Given the description of an element on the screen output the (x, y) to click on. 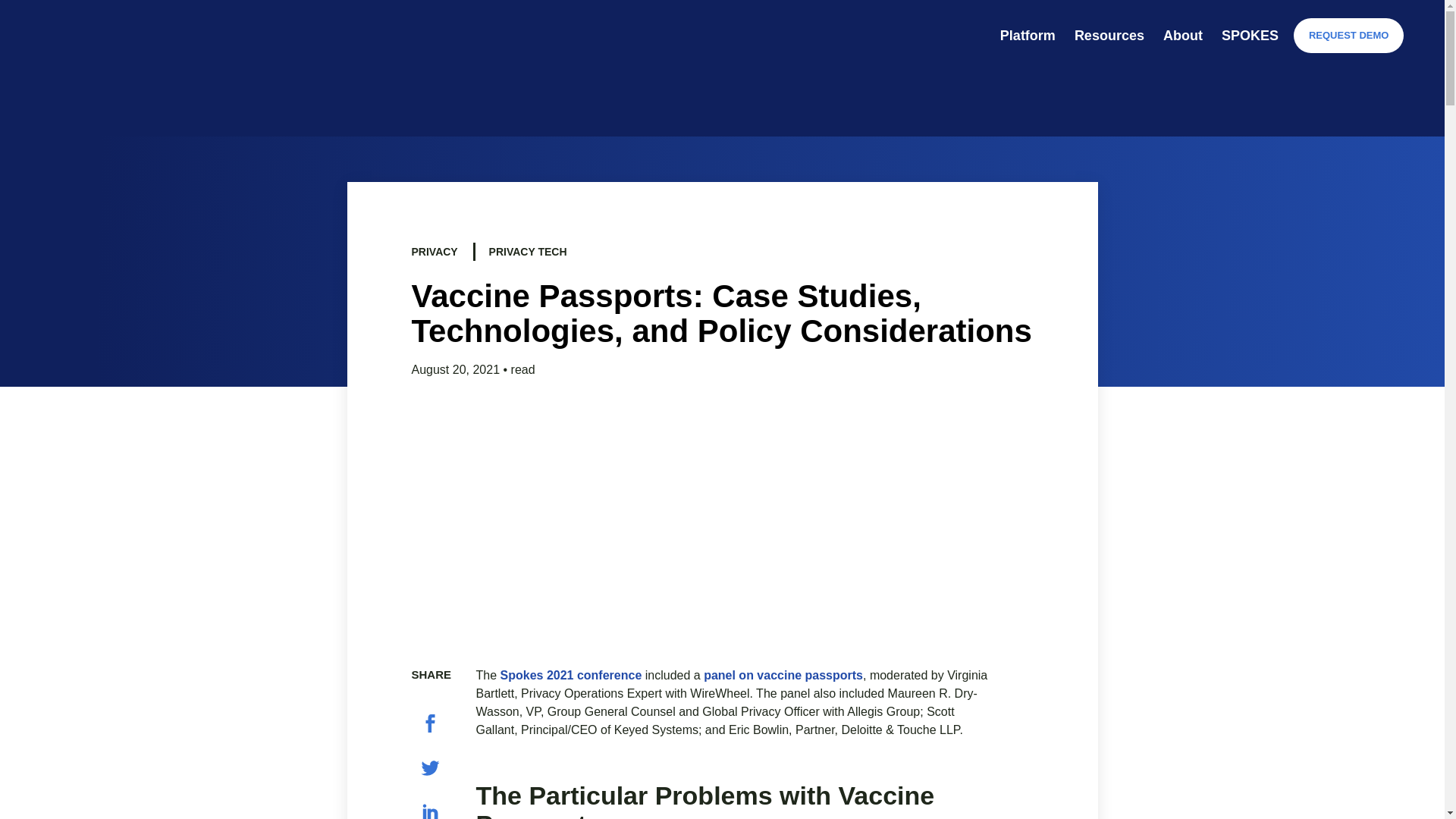
SPOKES (1249, 35)
Resources (1109, 35)
Platform (1027, 35)
About (1182, 35)
REQUEST DEMO (1348, 35)
